Given the description of an element on the screen output the (x, y) to click on. 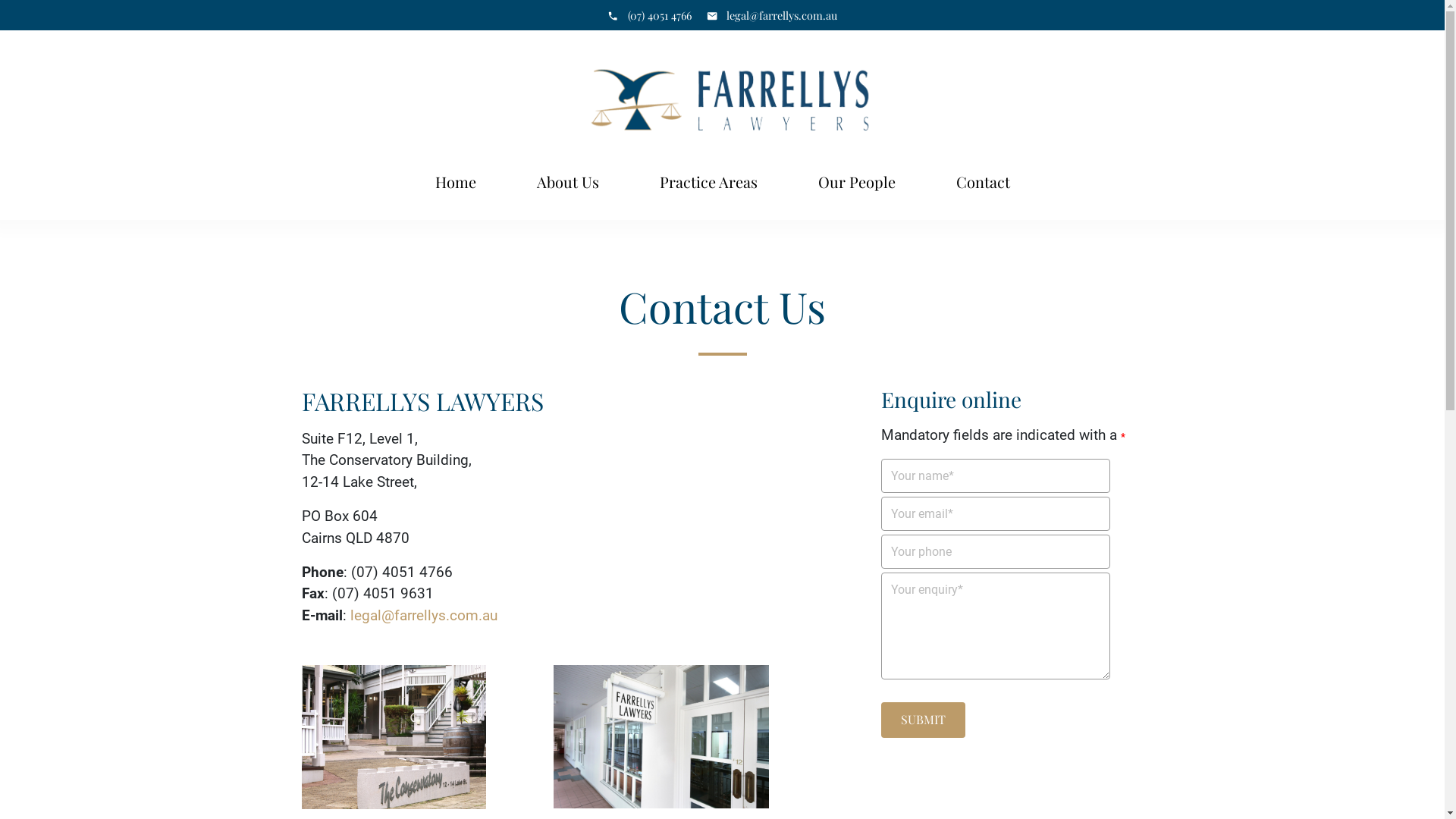
  legal@farrellys.com.au Element type: text (771, 14)
Contact Element type: text (982, 181)
Submit Element type: text (923, 719)
Home Element type: text (455, 181)
Our People Element type: text (856, 181)
Practice Areas Element type: text (708, 181)
  (07) 4051 4766 Element type: text (648, 14)
legal@farrellys.com.au Element type: text (423, 615)
About Us Element type: text (567, 181)
